Given the description of an element on the screen output the (x, y) to click on. 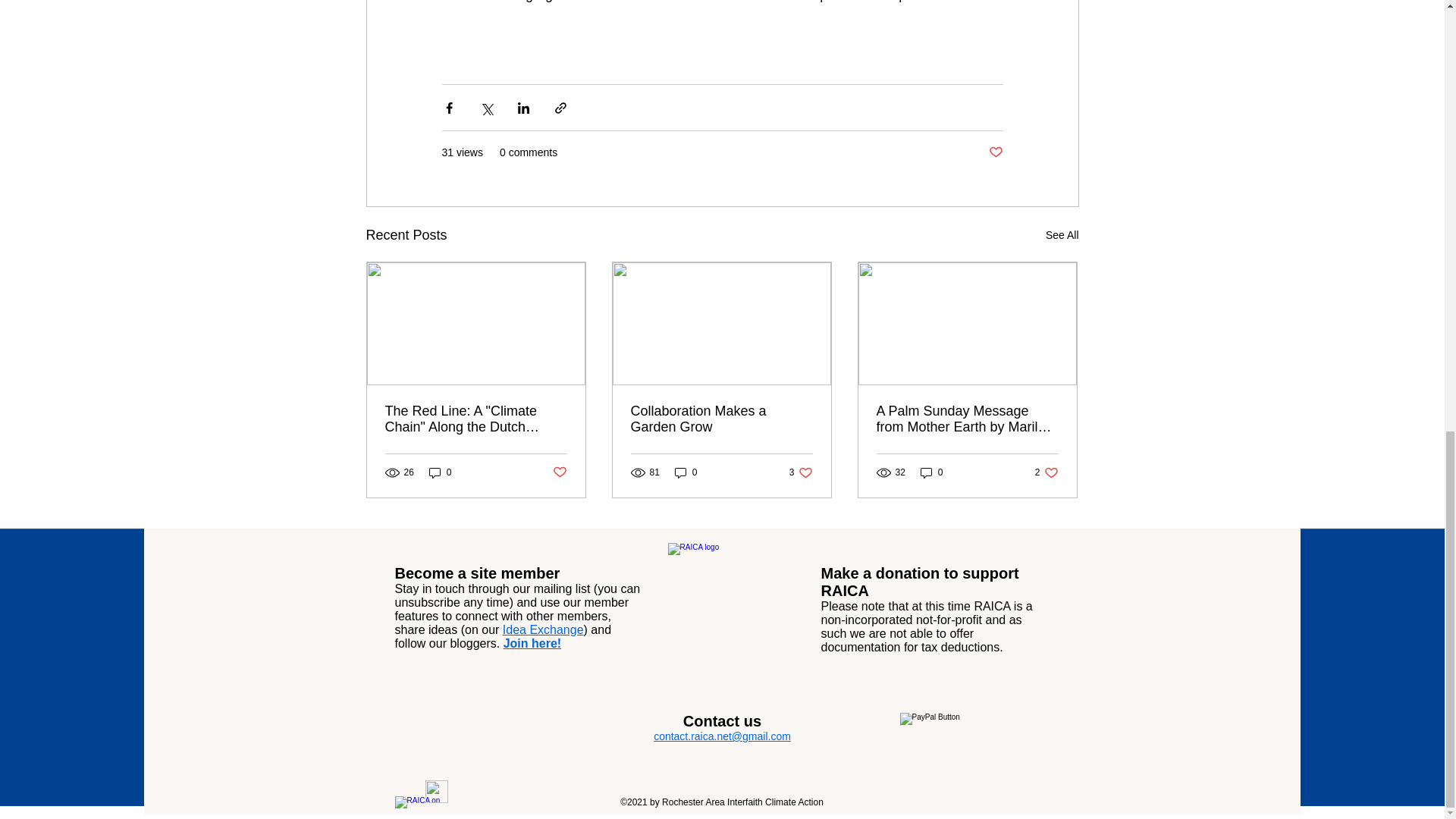
Post not marked as liked (995, 152)
Collaboration Makes a Garden Grow (721, 418)
See All (1061, 235)
0 (440, 472)
Post not marked as liked (558, 472)
